Given the description of an element on the screen output the (x, y) to click on. 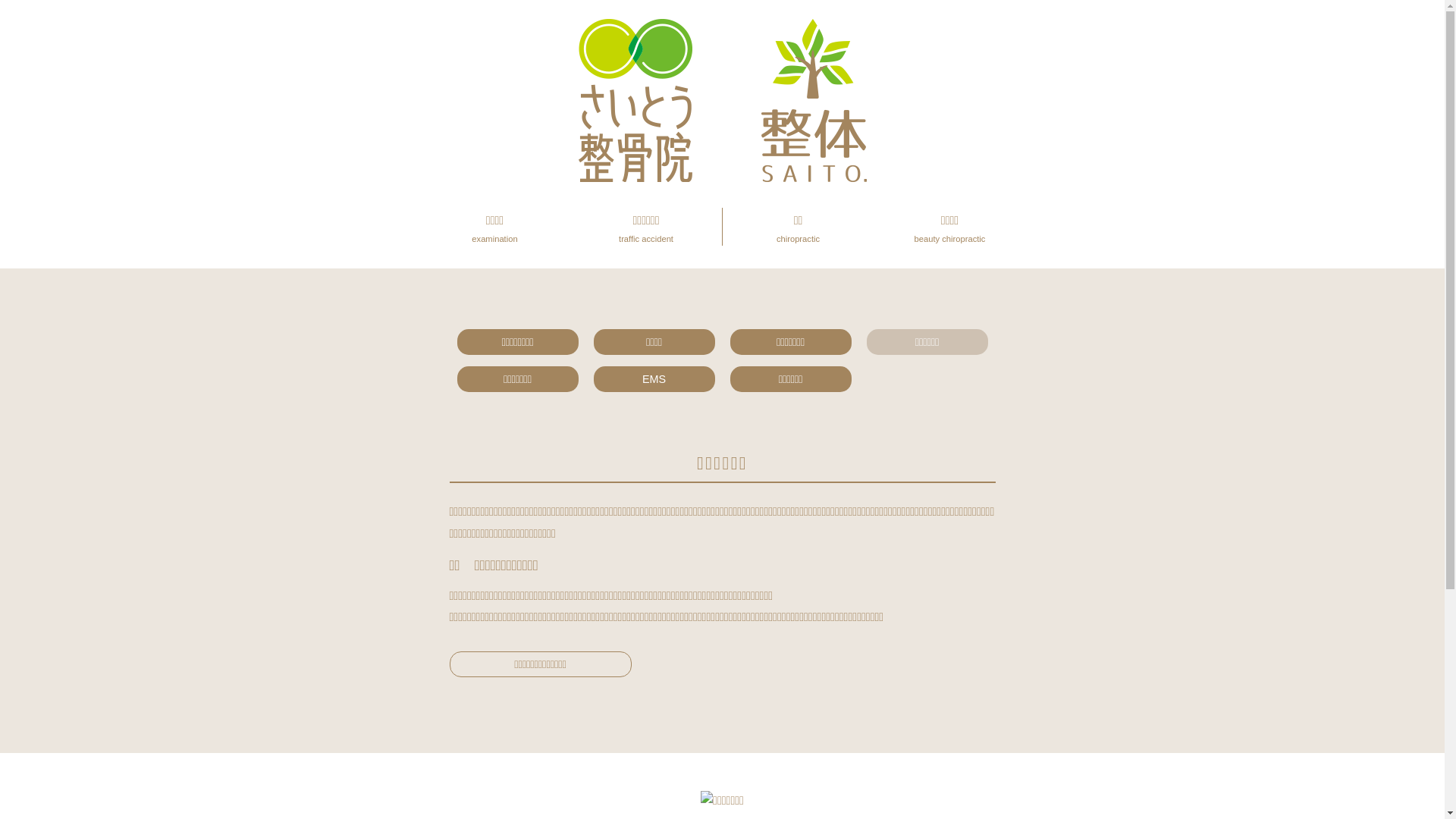
EMS Element type: text (653, 379)
